Given the description of an element on the screen output the (x, y) to click on. 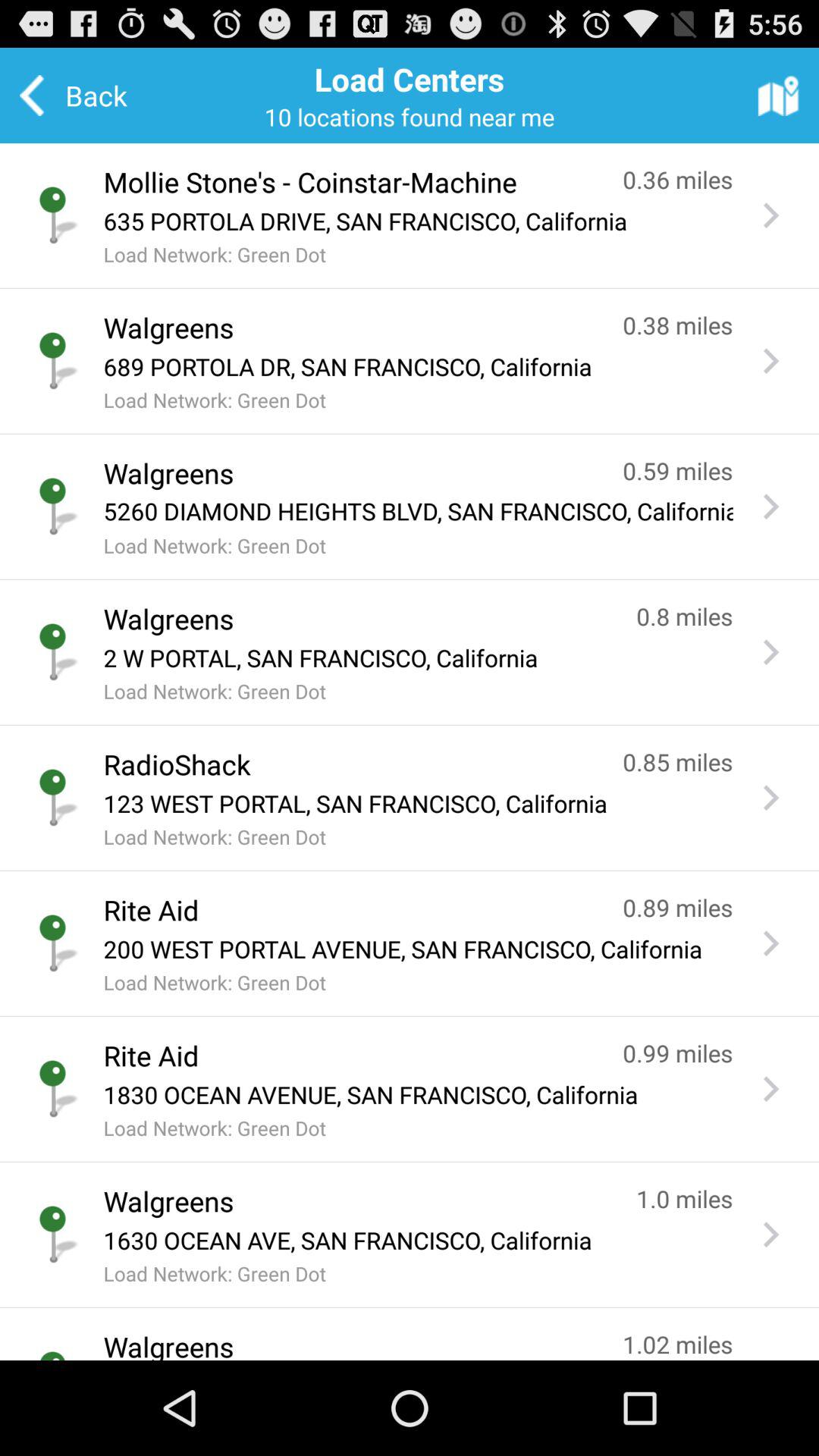
press the icon next to the load centers (778, 95)
